Given the description of an element on the screen output the (x, y) to click on. 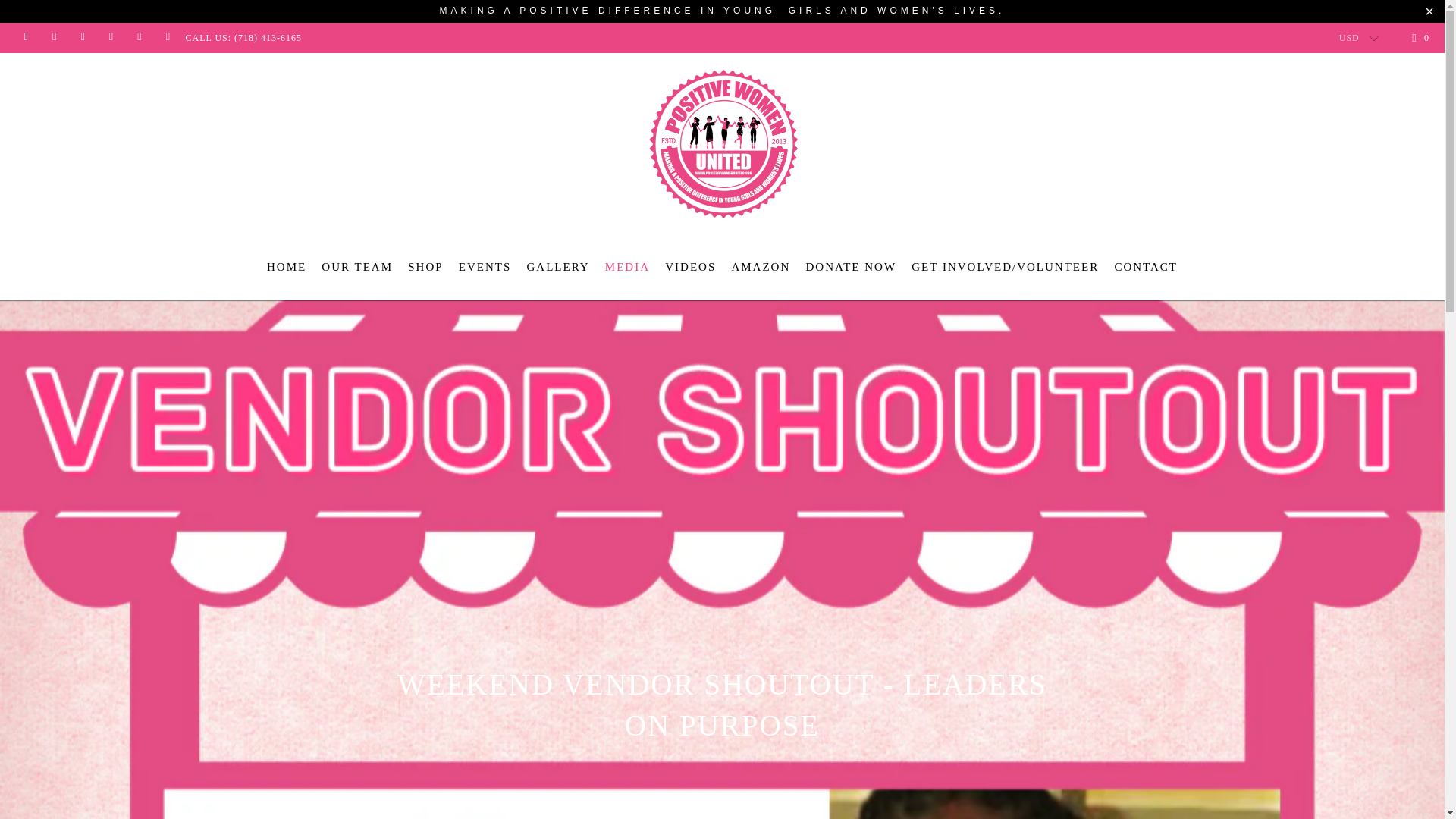
HOME (285, 266)
AMAZON (760, 266)
VIDEOS (690, 266)
EVENTS (485, 266)
OUR TEAM (357, 266)
MEDIA (627, 266)
GALLERY (557, 266)
